Given the description of an element on the screen output the (x, y) to click on. 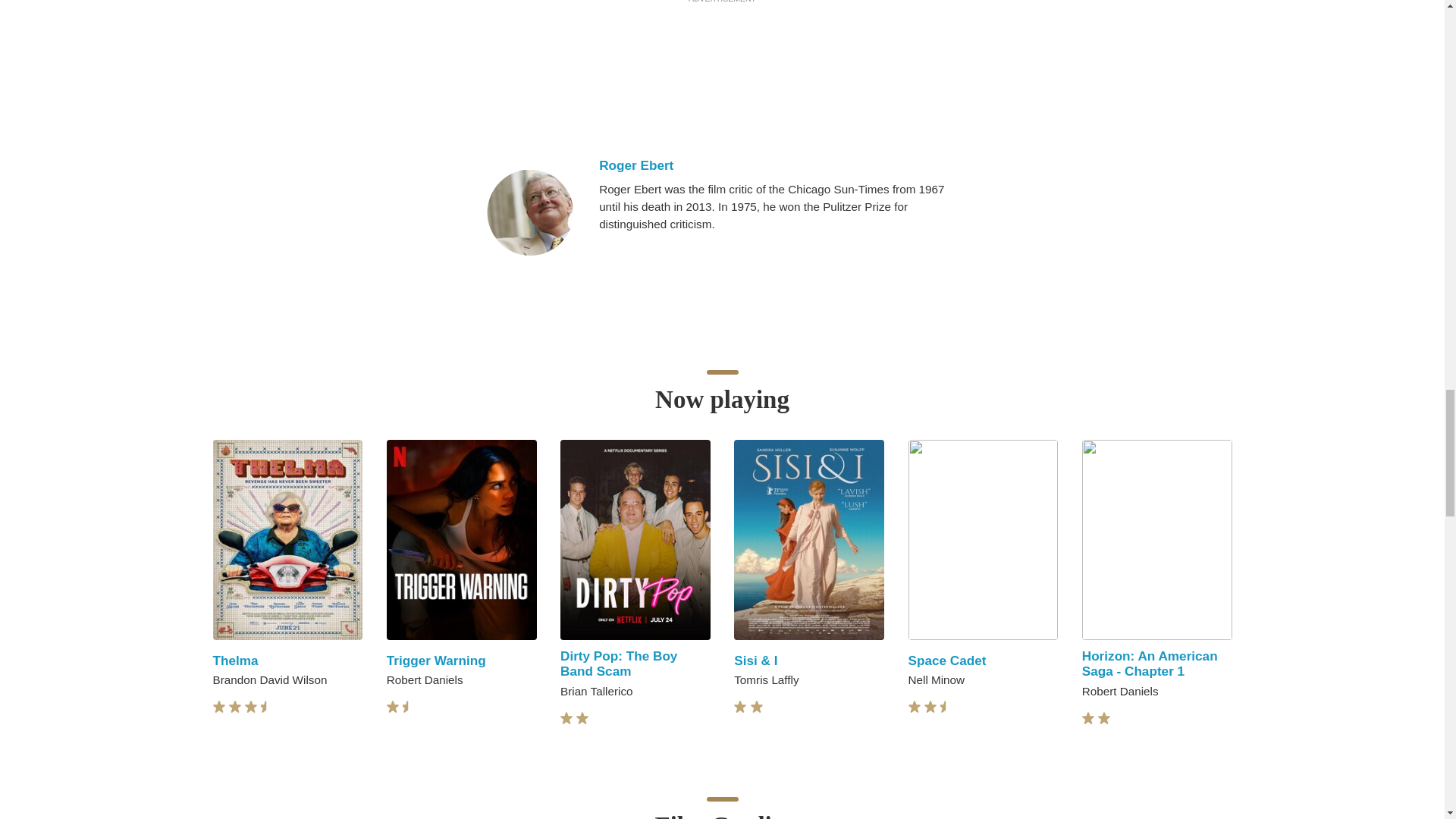
star-full (250, 707)
star-full (392, 707)
Roger Ebert (782, 165)
star-full (234, 707)
Dirty Pop: The Boy Band Scam (618, 663)
star-full (218, 707)
Roger Ebert (529, 212)
Space Cadet (947, 660)
Trigger Warning (436, 660)
Horizon: An American Saga - Chapter 1 (1149, 663)
